Given the description of an element on the screen output the (x, y) to click on. 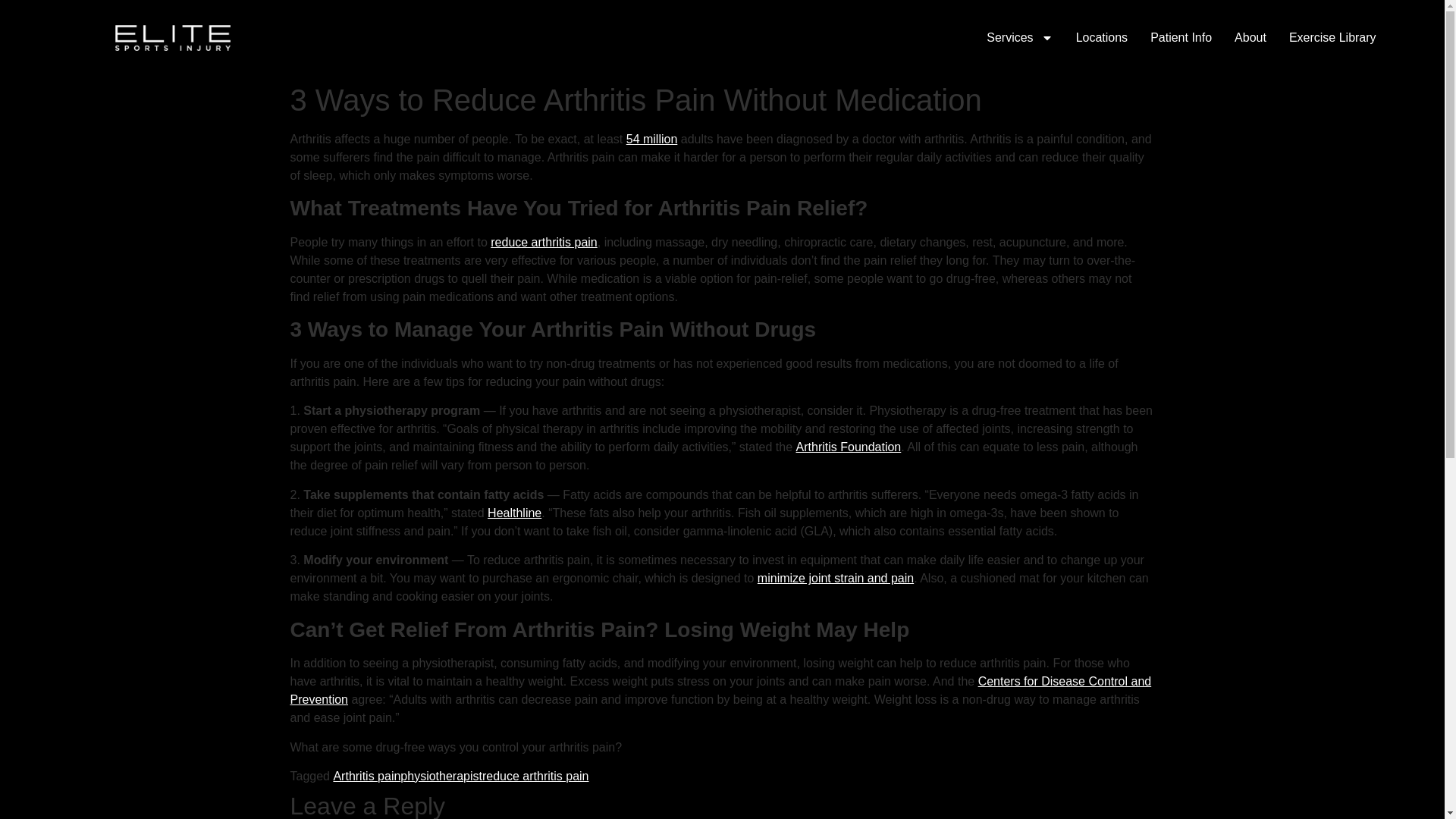
reduce arthritis pain (535, 775)
About (1250, 37)
Arthritis pain (366, 775)
Services (1019, 37)
Locations (1101, 37)
minimize joint strain and pain (835, 577)
reduce arthritis pain (543, 241)
Arthritis Foundation (848, 446)
physiotherapist (440, 775)
Exercise Library (1331, 37)
Patient Info (1180, 37)
Centers for Disease Control and Prevention (720, 689)
54 million (652, 138)
Healthline (514, 512)
